Given the description of an element on the screen output the (x, y) to click on. 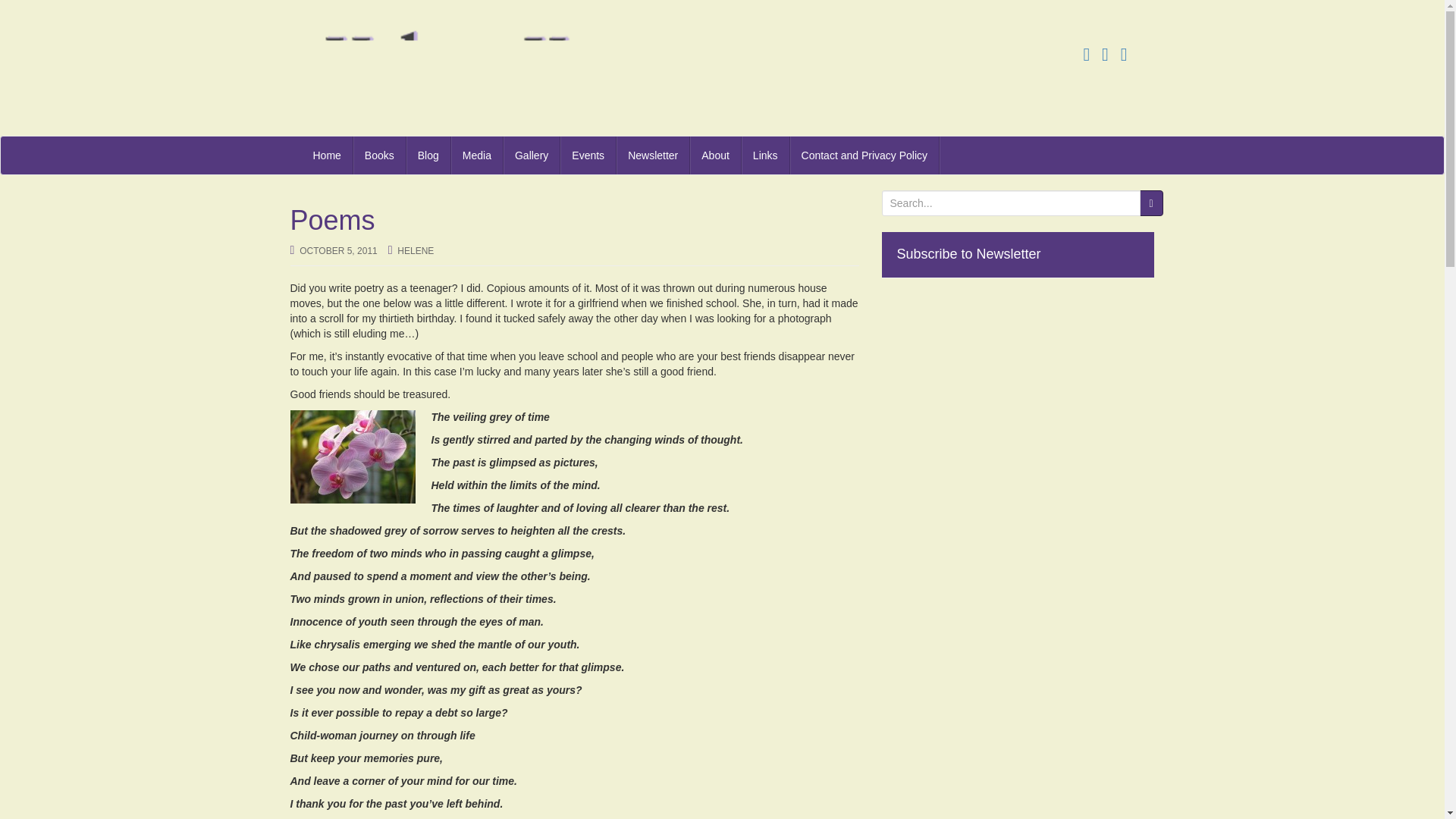
Gallery (531, 155)
Books (379, 155)
Events (587, 155)
About (715, 155)
Events (587, 155)
Contact and Privacy Policy (865, 155)
Links (765, 155)
Links (765, 155)
Home (327, 155)
About (715, 155)
Gallery (531, 155)
Newsletter (652, 155)
Home (327, 155)
HELENE (415, 250)
Blog (428, 155)
